Given the description of an element on the screen output the (x, y) to click on. 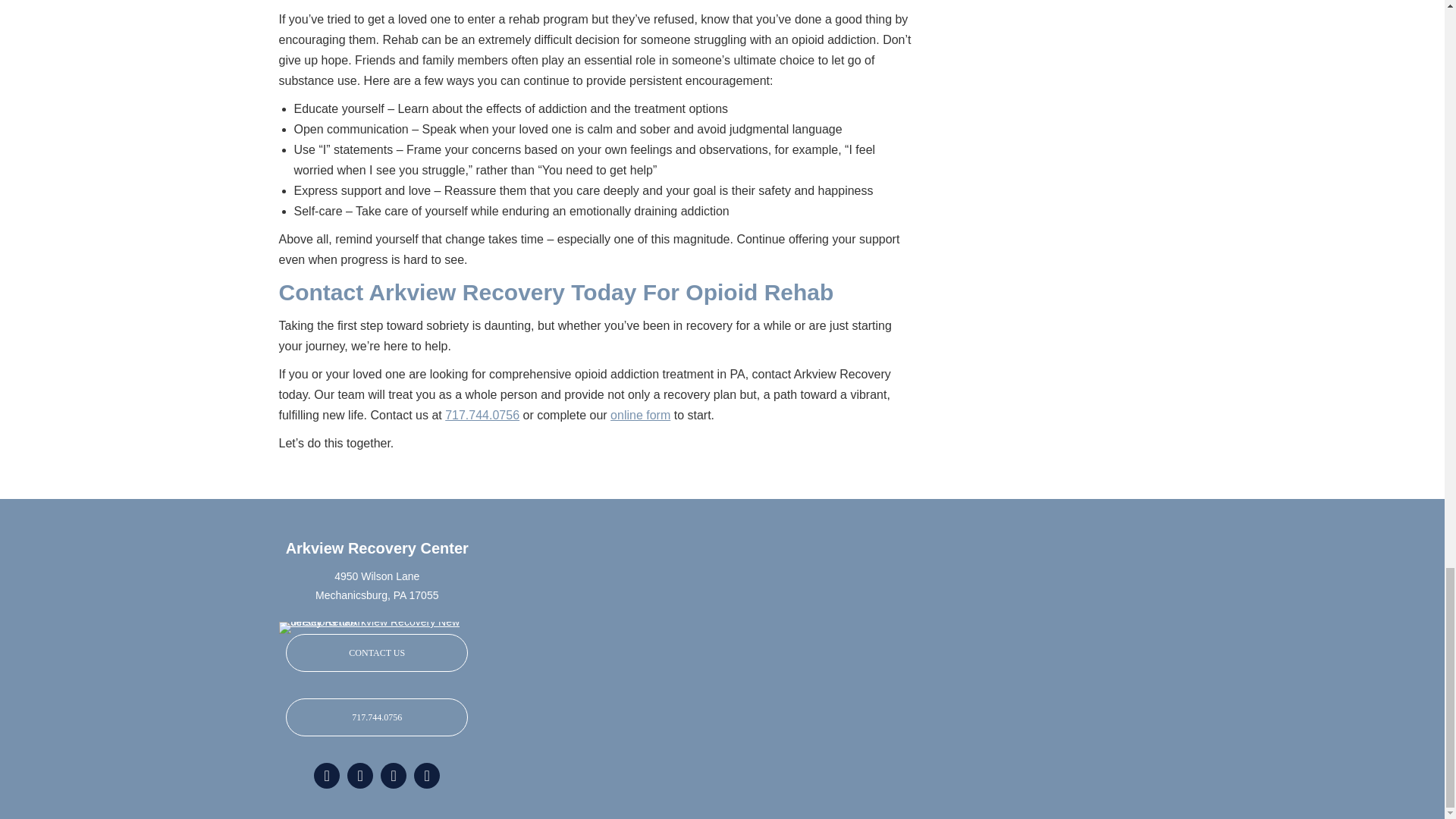
Twitter (359, 775)
Contact Arkview Recovery Center (376, 652)
Instagram (426, 775)
Facebook (393, 775)
